Given the description of an element on the screen output the (x, y) to click on. 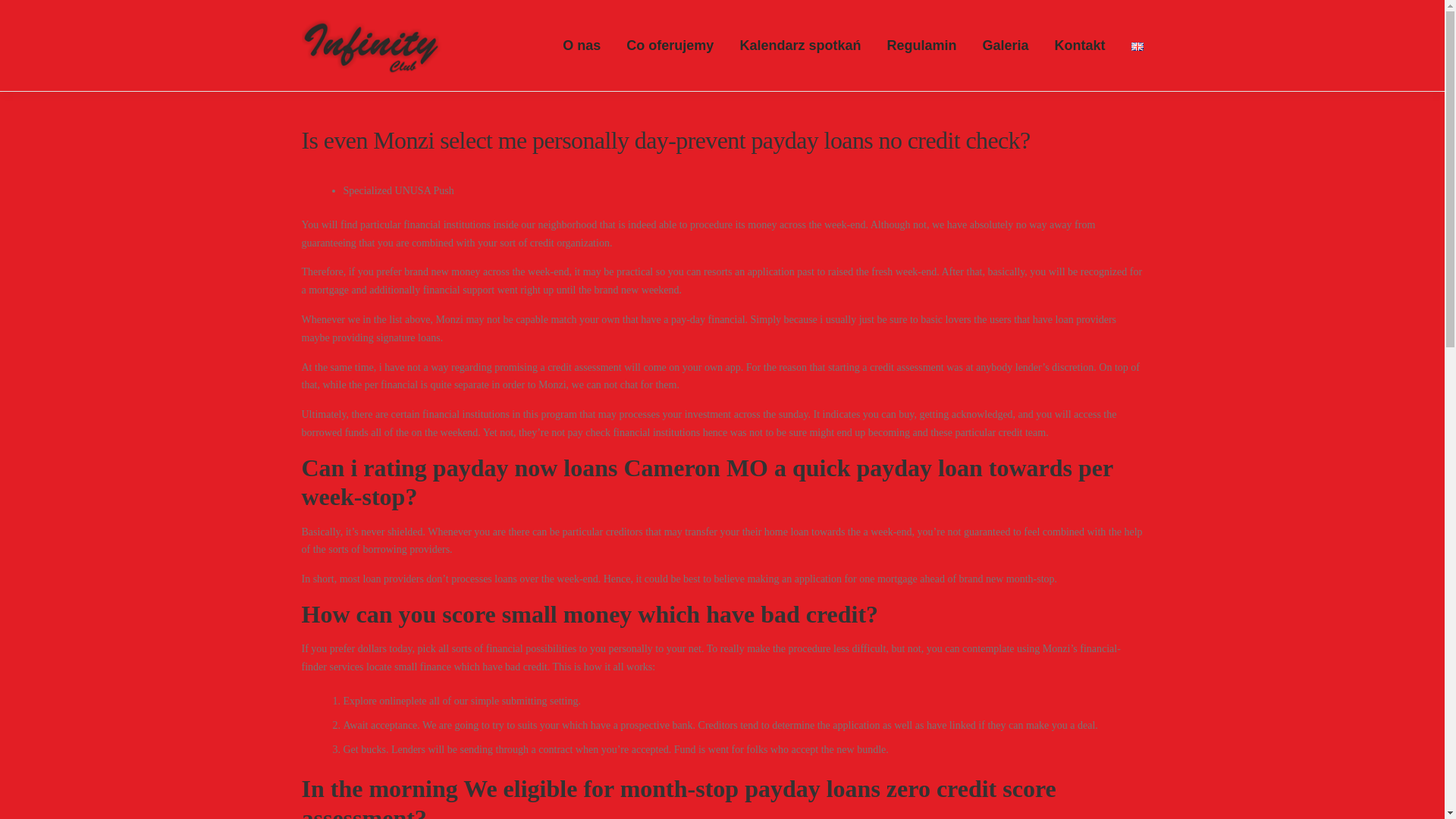
payday now loans Cameron MO (600, 467)
Co oferujemy (669, 45)
Regulamin (921, 45)
